Given the description of an element on the screen output the (x, y) to click on. 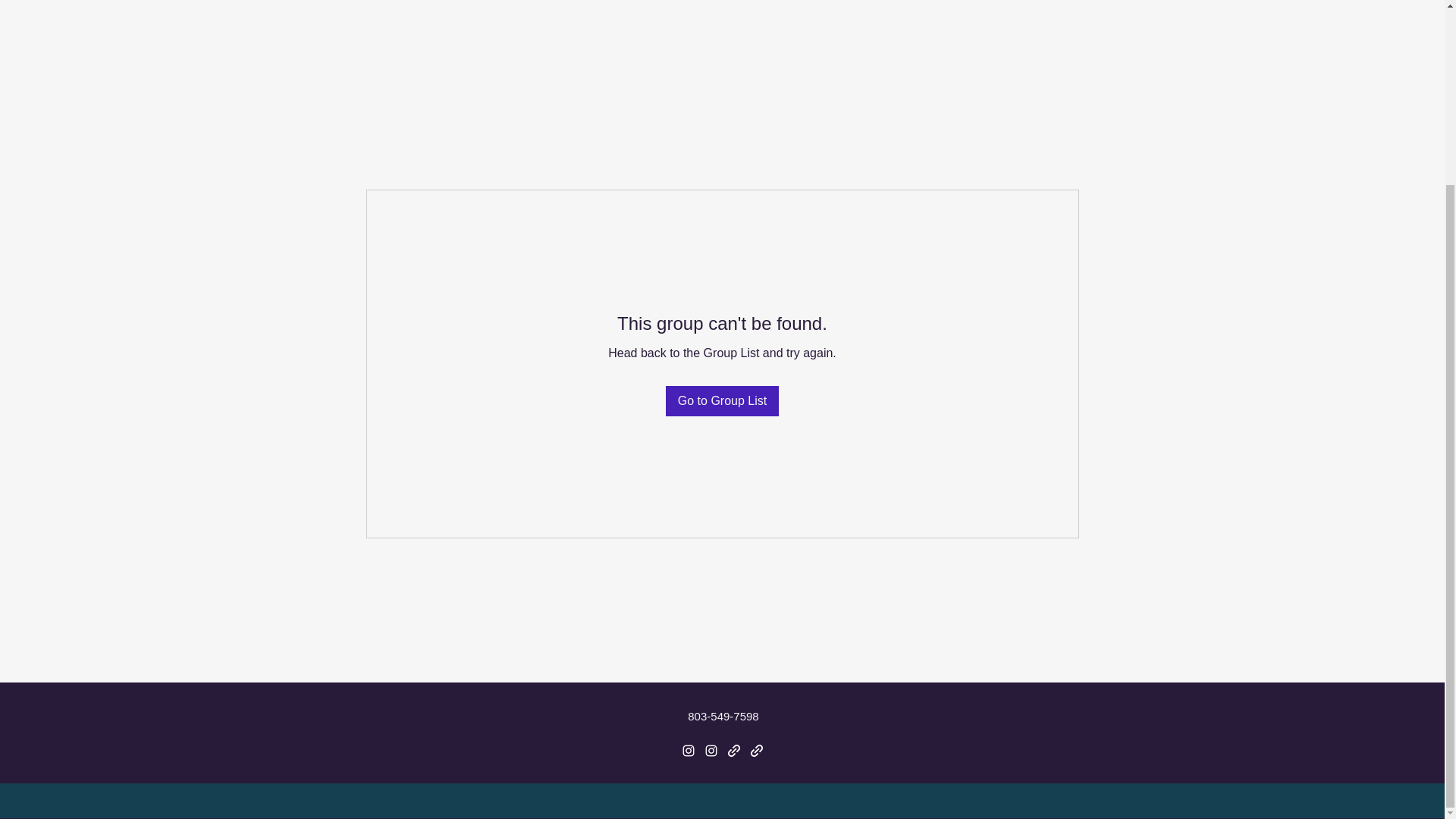
Go to Group List (721, 400)
